Given the description of an element on the screen output the (x, y) to click on. 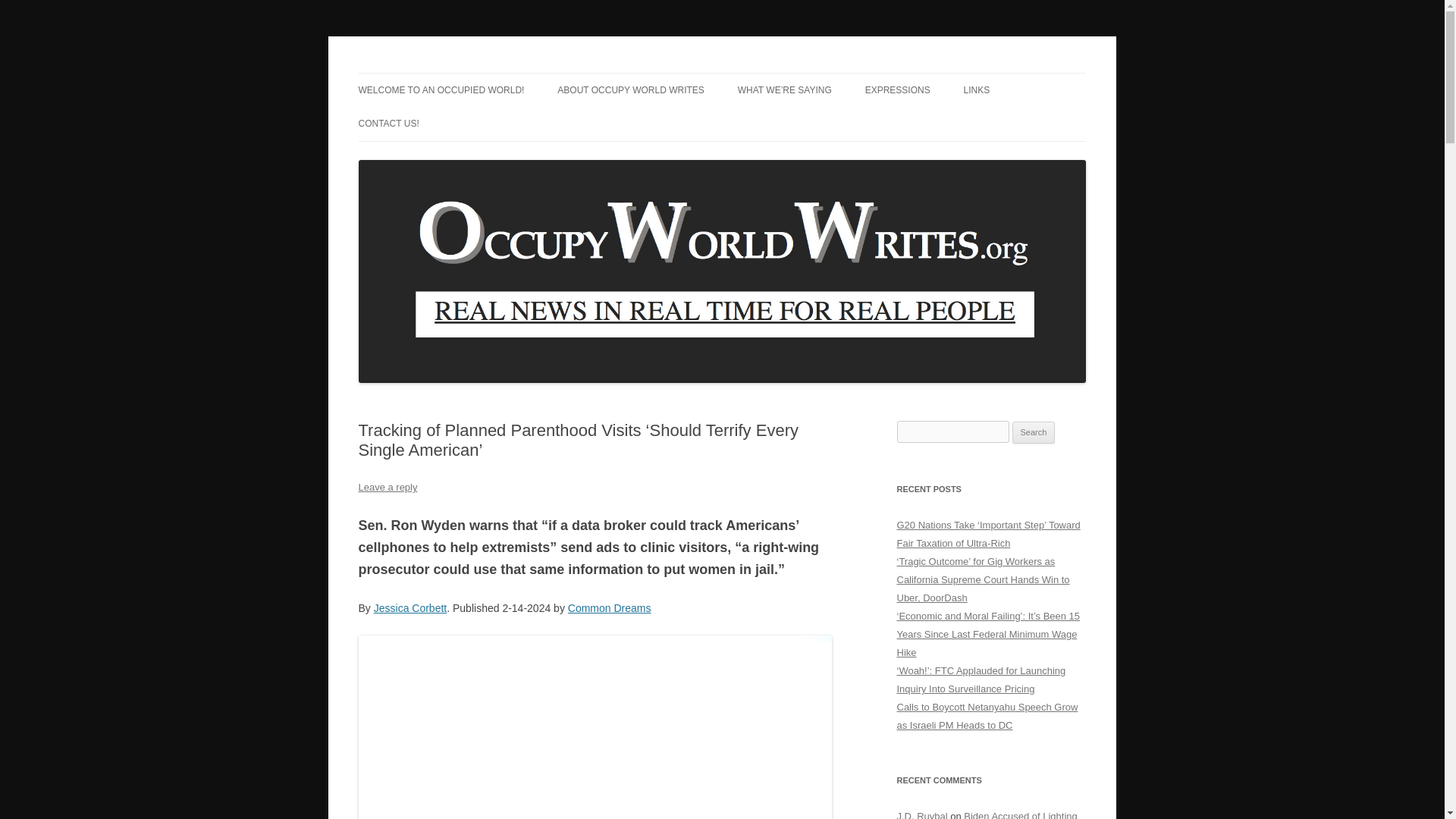
Common Dreams (608, 607)
LINKS (976, 90)
ABOUT OCCUPY WORLD WRITES (630, 90)
Leave a reply (387, 487)
CONTACT US! (388, 123)
Occupy World Writes (457, 72)
EXPRESSIONS (897, 90)
WELCOME TO AN OCCUPIED WORLD! (441, 90)
Jessica Corbett (410, 607)
Search (1033, 432)
